Given the description of an element on the screen output the (x, y) to click on. 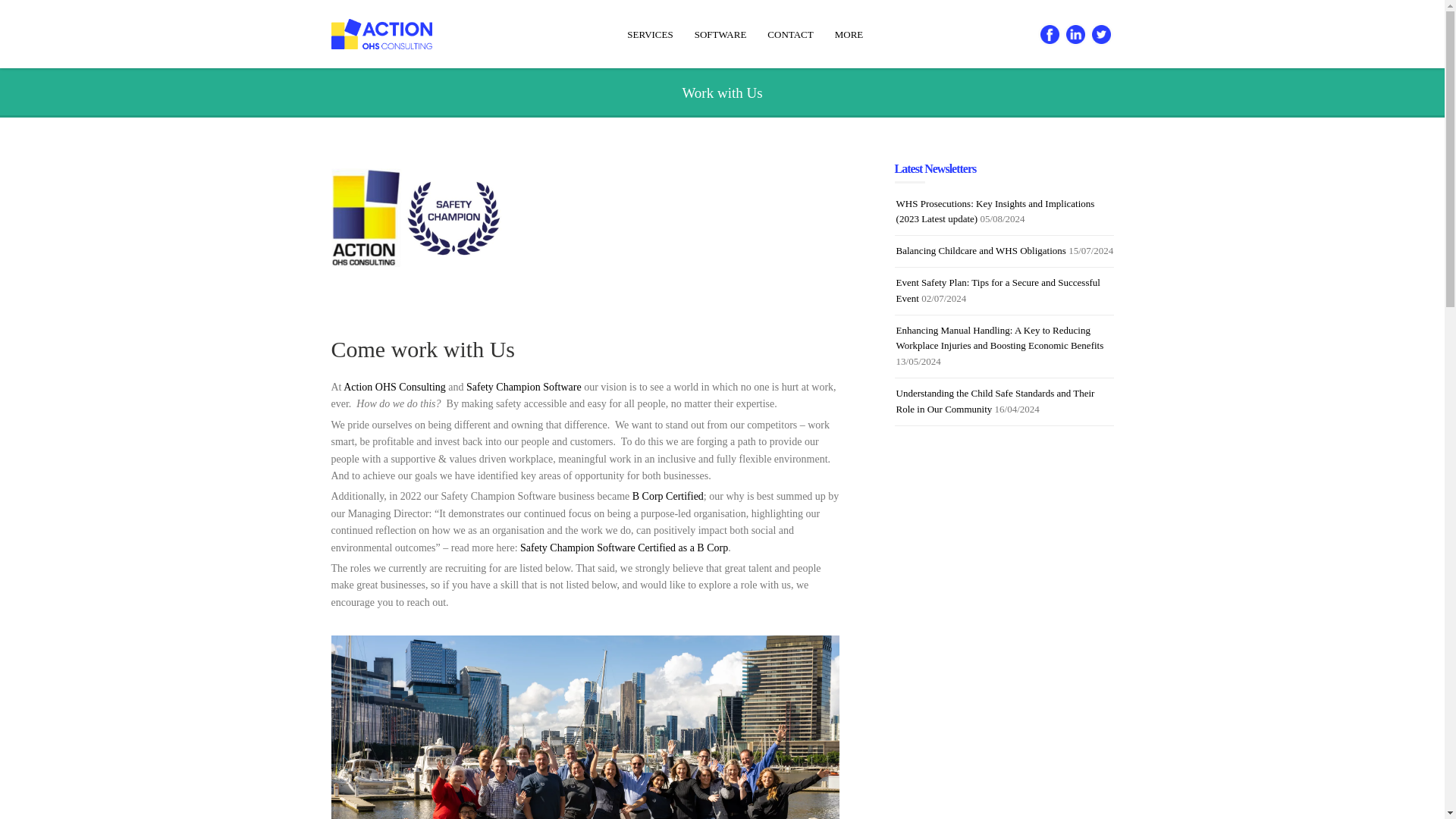
Balancing Childcare and WHS Obligations (980, 250)
Connect on Linkedin (1074, 34)
CONTACT (790, 35)
SERVICES (648, 35)
Safety Champion Software Certified as a B Corp (623, 547)
Follow us on Twitter (1101, 34)
Follow us on Facebook (1050, 34)
Safety Champion Software (522, 387)
